Given the description of an element on the screen output the (x, y) to click on. 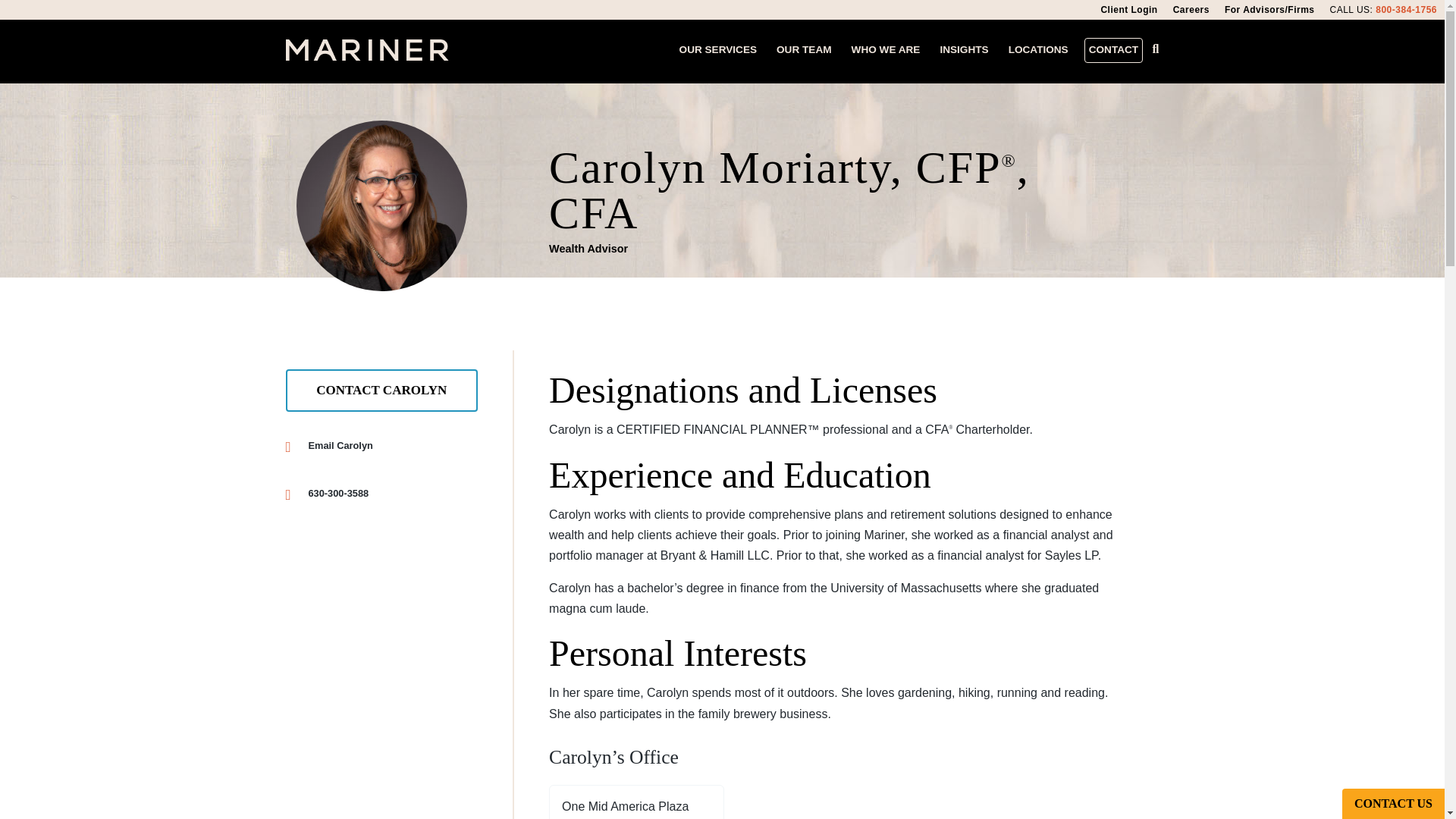
INSIGHTS (963, 49)
800-384-1756 (636, 808)
CONTACT (1406, 9)
630-300-3588 (1113, 49)
CALL US: (381, 493)
Client Login (1351, 9)
OUR SERVICES (1128, 9)
OUR TEAM (717, 49)
Careers (804, 49)
